Given the description of an element on the screen output the (x, y) to click on. 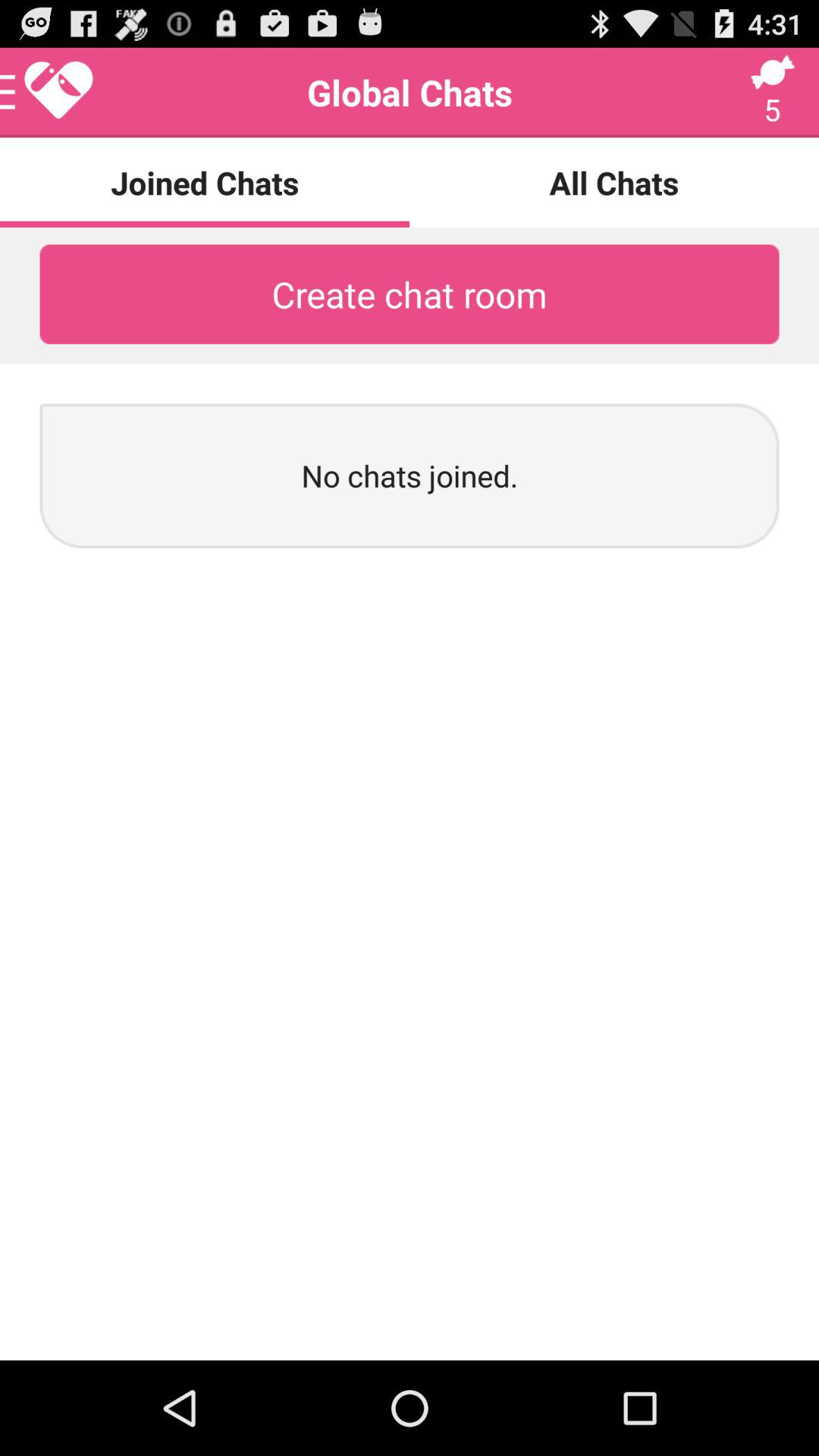
press the icon above joined chats icon (47, 92)
